Given the description of an element on the screen output the (x, y) to click on. 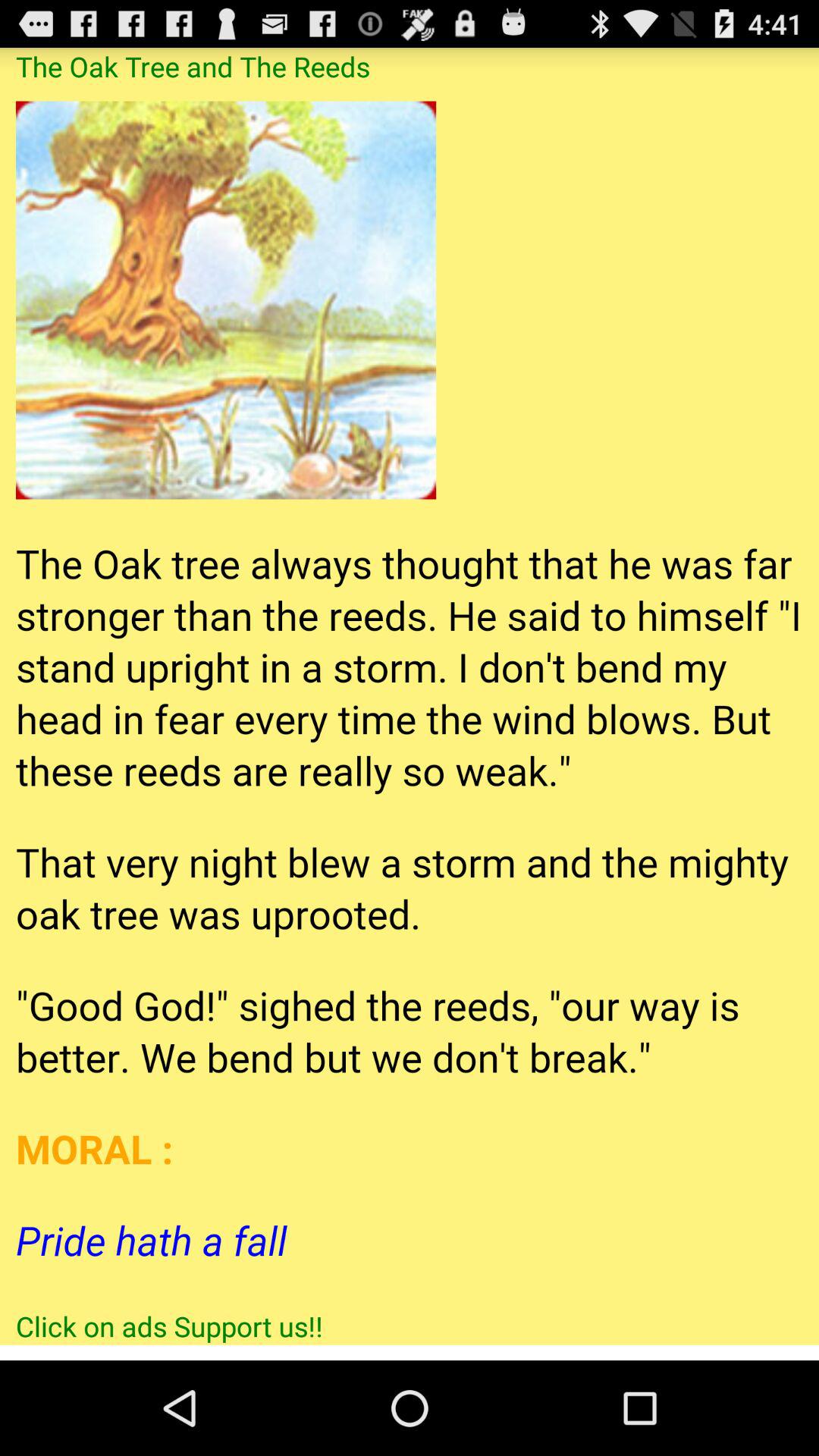
read short story (409, 696)
